Given the description of an element on the screen output the (x, y) to click on. 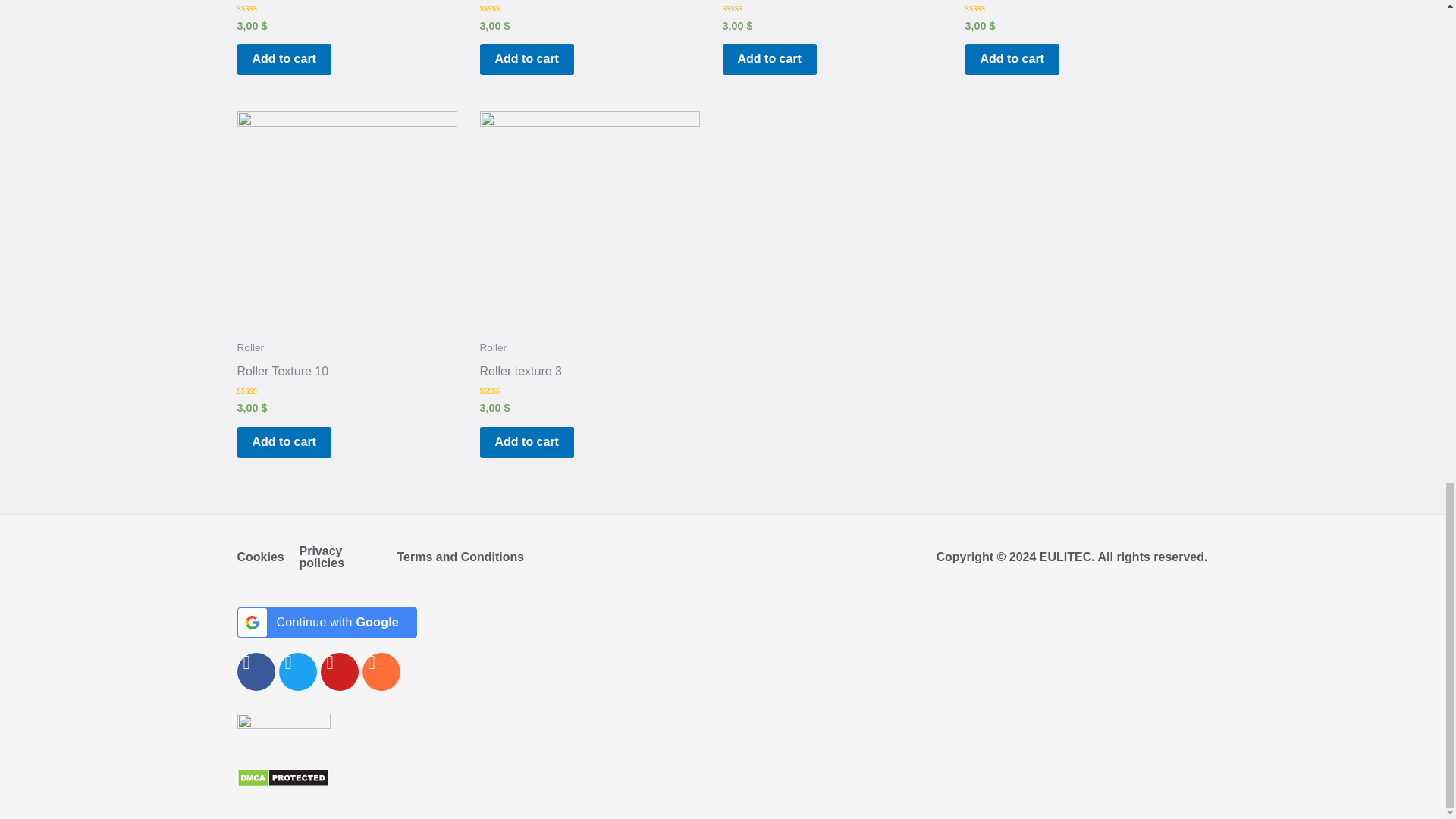
Add to cart (282, 59)
Roller Texture 26 (282, 1)
DMCA.com Protection Status (282, 776)
